Given the description of an element on the screen output the (x, y) to click on. 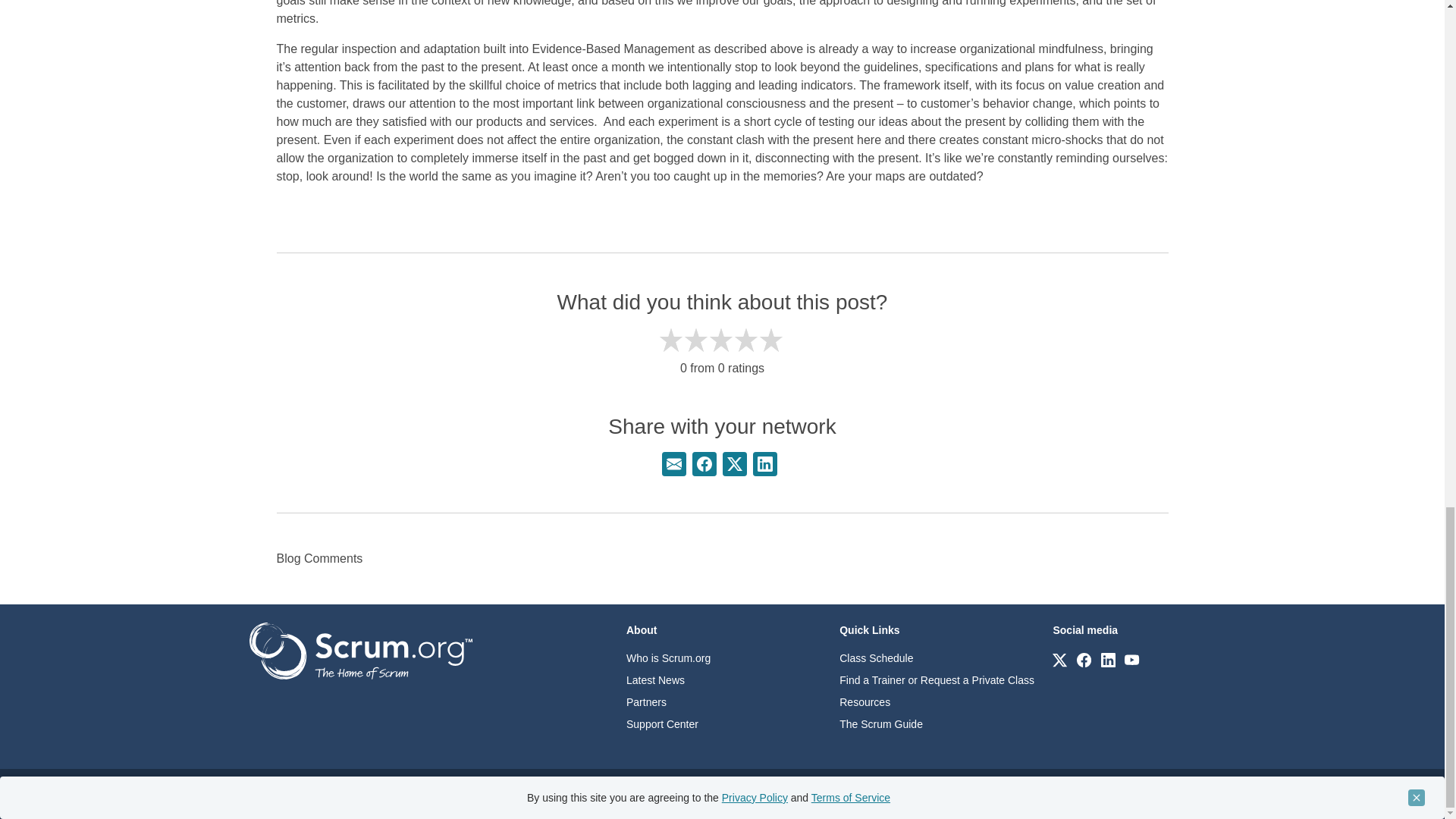
Click to share on Twitter (733, 463)
